Given the description of an element on the screen output the (x, y) to click on. 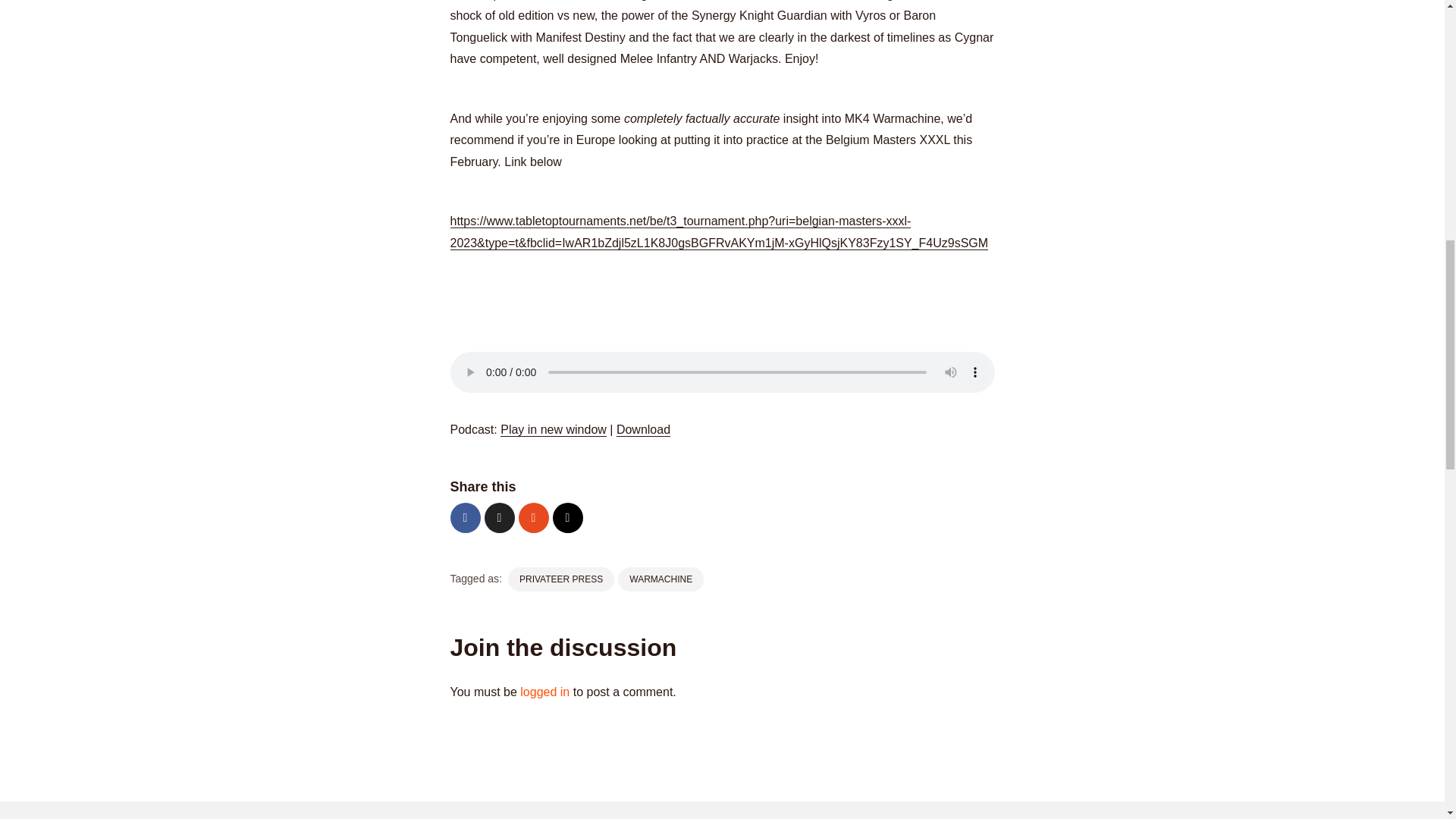
logged in (544, 691)
Play in new window (553, 429)
Download (642, 429)
WARMACHINE (660, 579)
Download (642, 429)
PRIVATEER PRESS (561, 579)
Play in new window (553, 429)
